Given the description of an element on the screen output the (x, y) to click on. 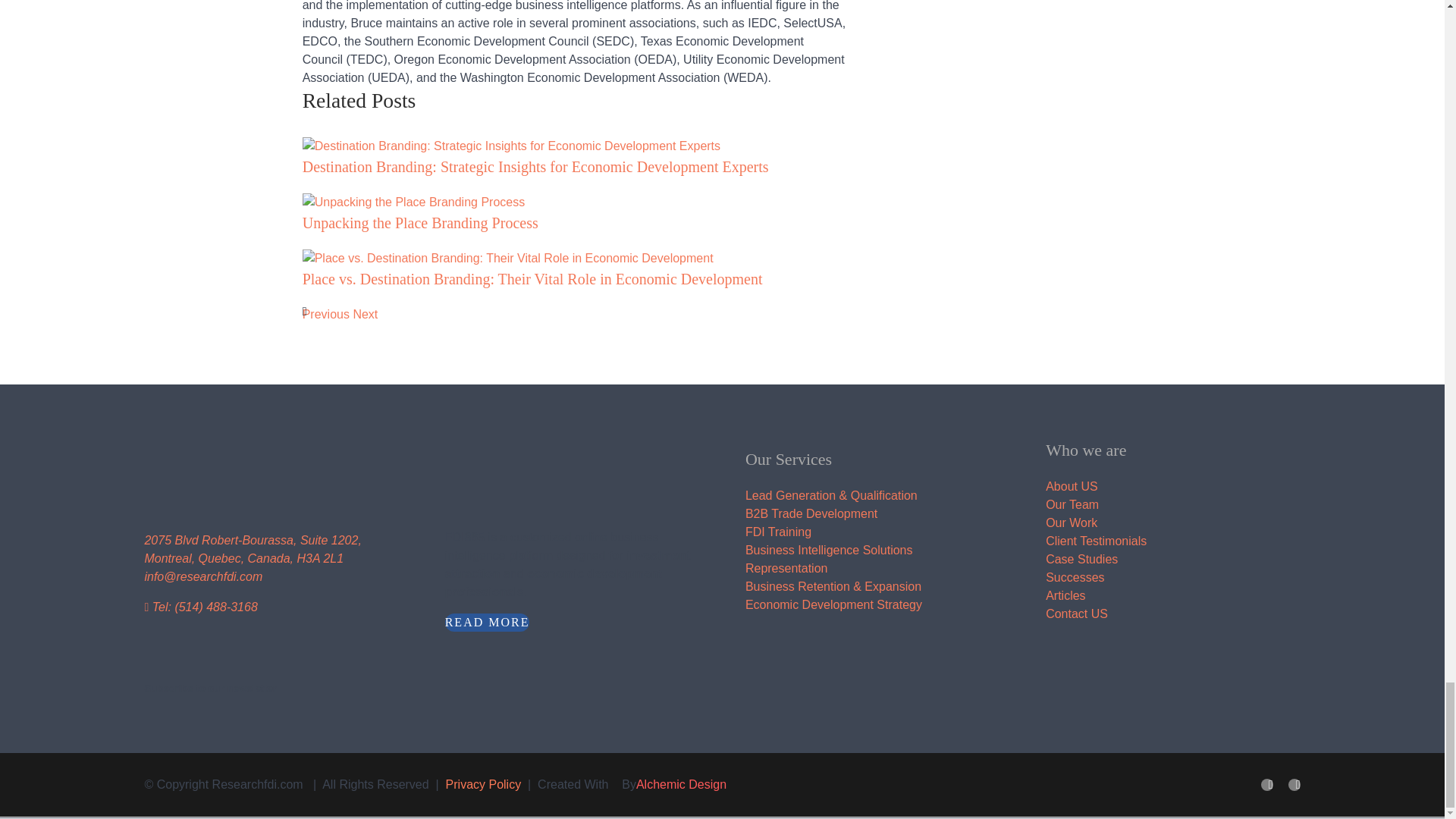
Read more about FDI365 (487, 622)
